Given the description of an element on the screen output the (x, y) to click on. 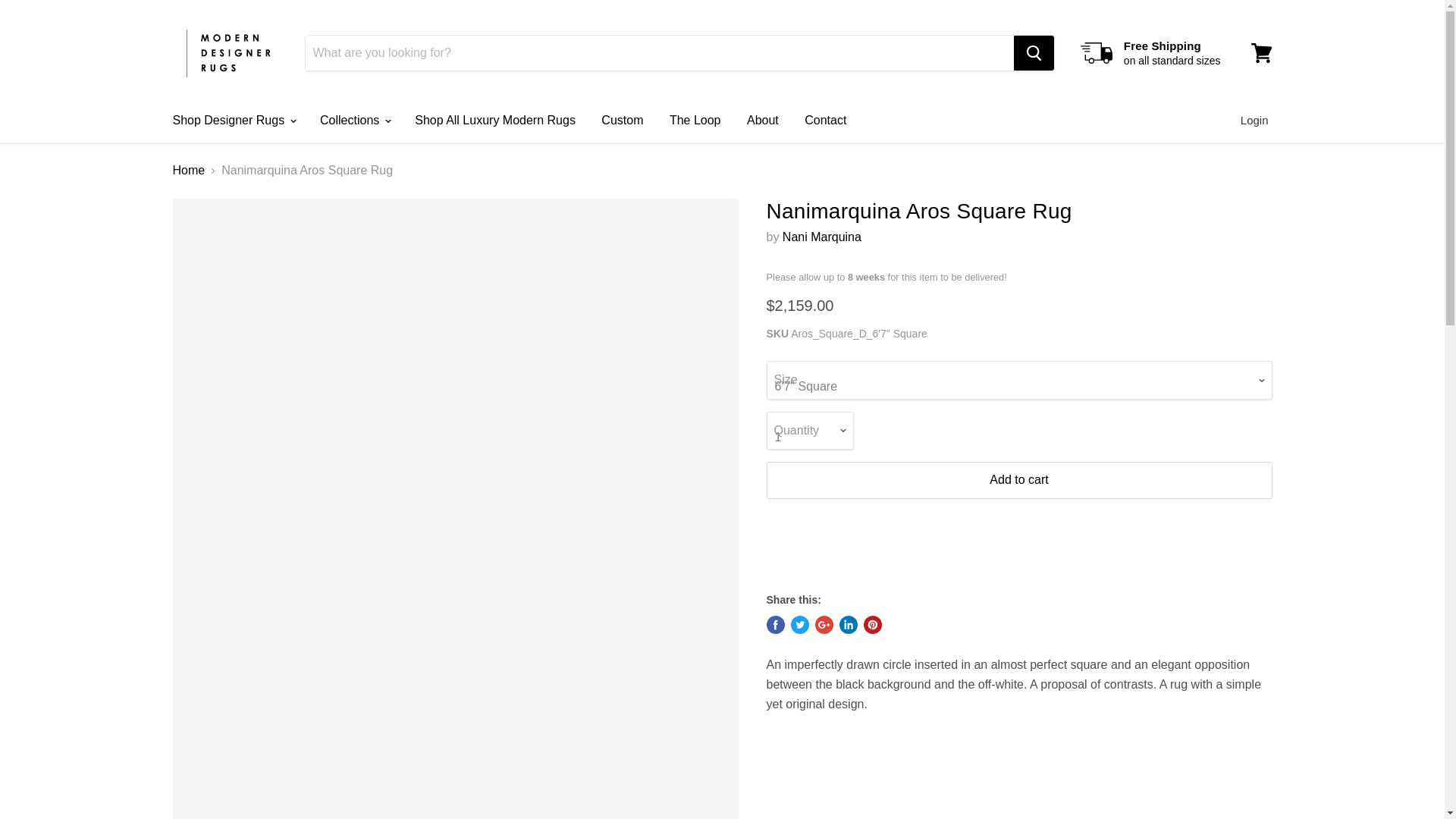
View cart (1261, 53)
Nani Marquina (822, 236)
Shop Designer Rugs (232, 120)
